Given the description of an element on the screen output the (x, y) to click on. 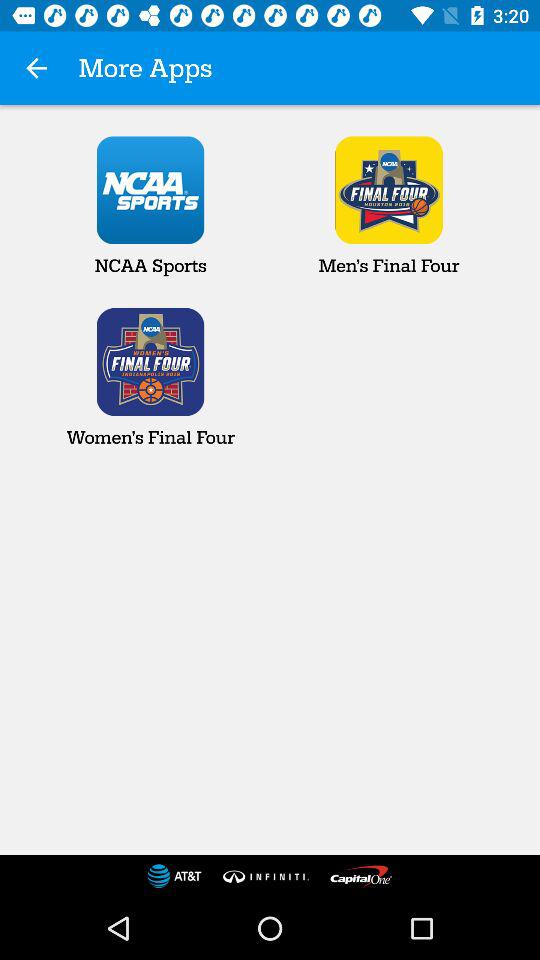
press ncaa sports item (150, 206)
